Given the description of an element on the screen output the (x, y) to click on. 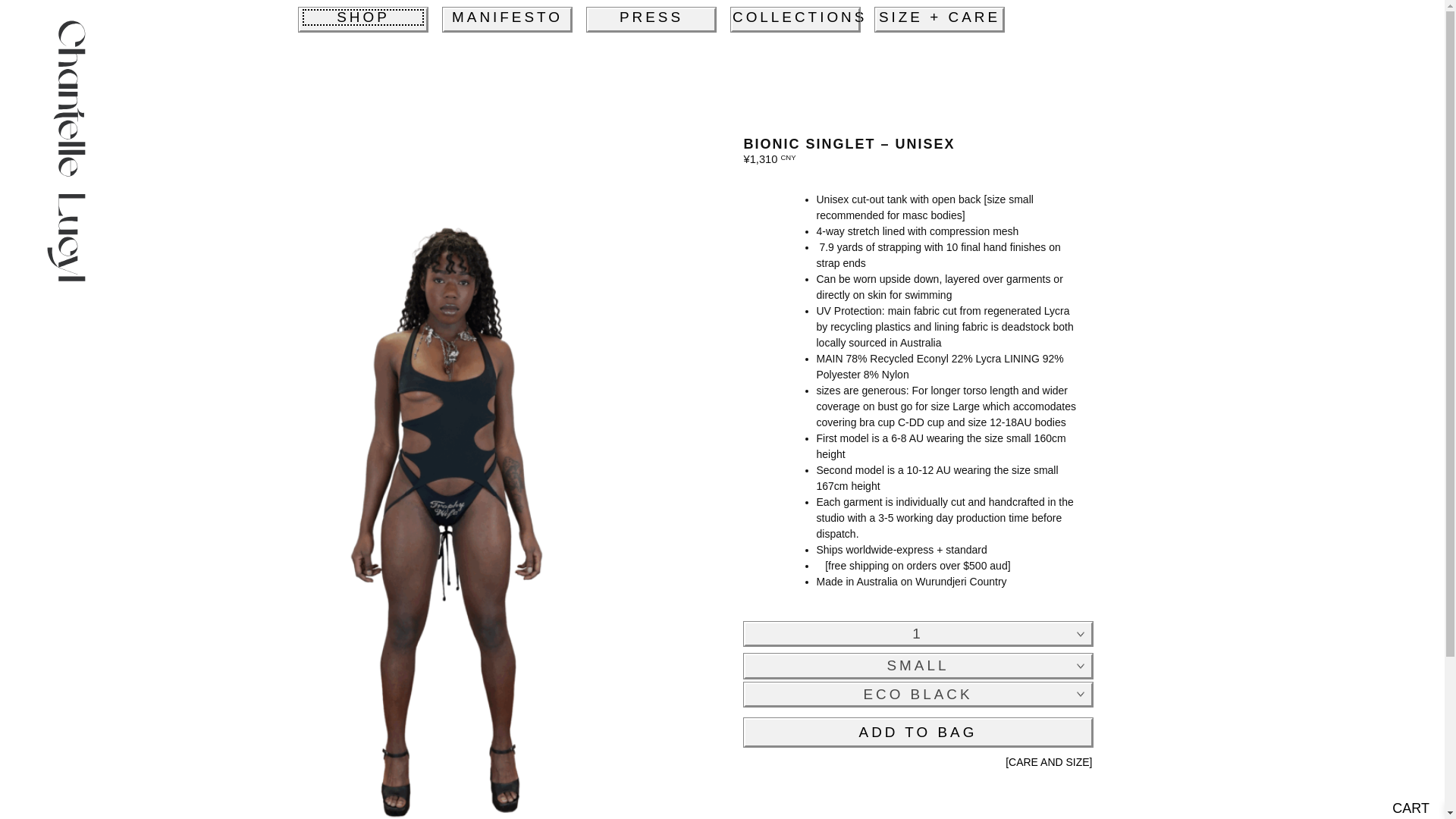
SHOP (363, 19)
ADD TO BAG (917, 732)
MANIFESTO (507, 19)
COLLECTIONS (795, 19)
PRESS (651, 19)
